Given the description of an element on the screen output the (x, y) to click on. 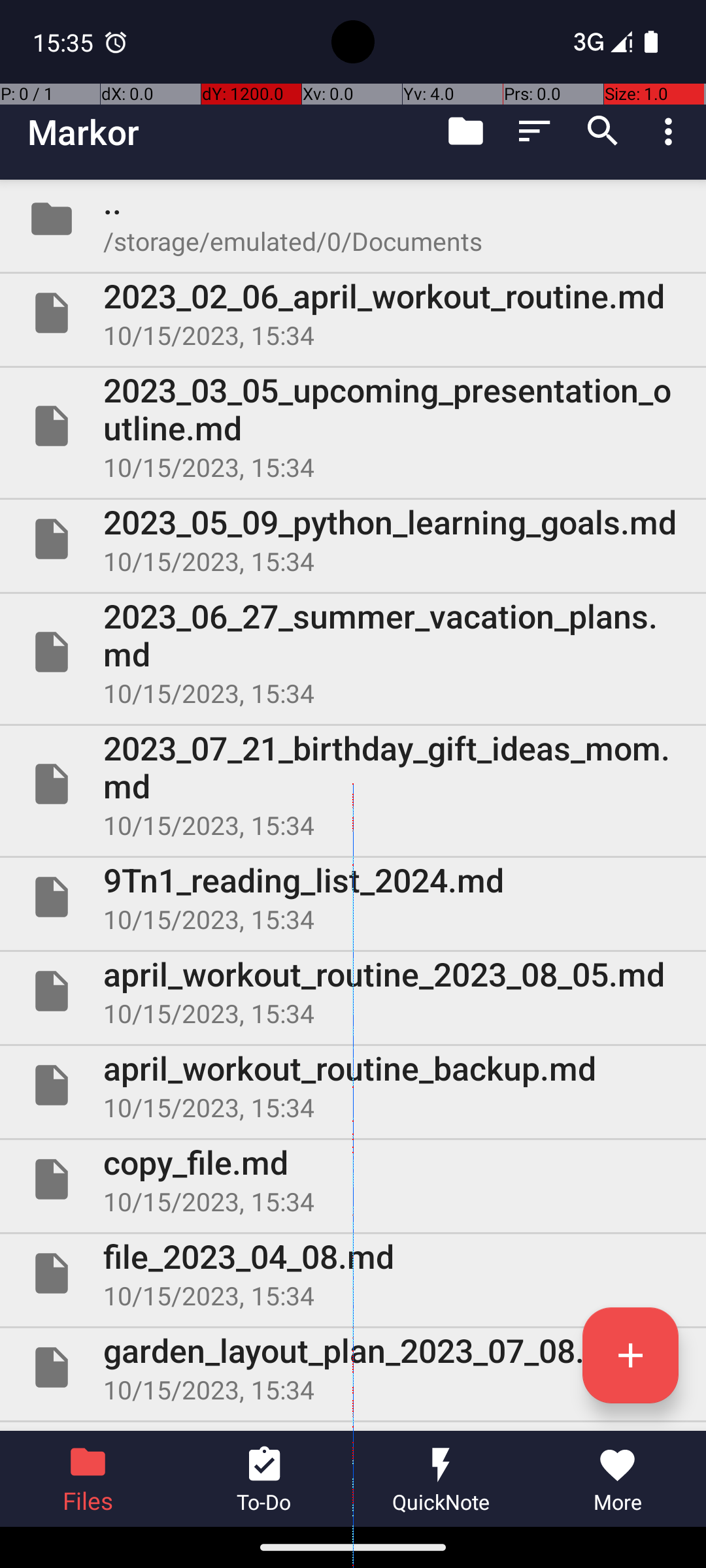
File 2023_02_06_april_workout_routine.md  Element type: android.widget.LinearLayout (353, 312)
File 2023_03_05_upcoming_presentation_outline.md  Element type: android.widget.LinearLayout (353, 425)
File 2023_05_09_python_learning_goals.md  Element type: android.widget.LinearLayout (353, 538)
File 2023_06_27_summer_vacation_plans.md  Element type: android.widget.LinearLayout (353, 651)
File 2023_07_21_birthday_gift_ideas_mom.md  Element type: android.widget.LinearLayout (353, 783)
File 9Tn1_reading_list_2024.md  Element type: android.widget.LinearLayout (353, 896)
File april_workout_routine_2023_08_05.md  Element type: android.widget.LinearLayout (353, 990)
File april_workout_routine_backup.md  Element type: android.widget.LinearLayout (353, 1084)
File copy_file.md  Element type: android.widget.LinearLayout (353, 1179)
File file_2023_04_08.md  Element type: android.widget.LinearLayout (353, 1273)
File garden_layout_plan_2023_07_08.md  Element type: android.widget.LinearLayout (353, 1367)
File LXQY_favorite_book_quotes.md  Element type: android.widget.LinearLayout (353, 1426)
